Given the description of an element on the screen output the (x, y) to click on. 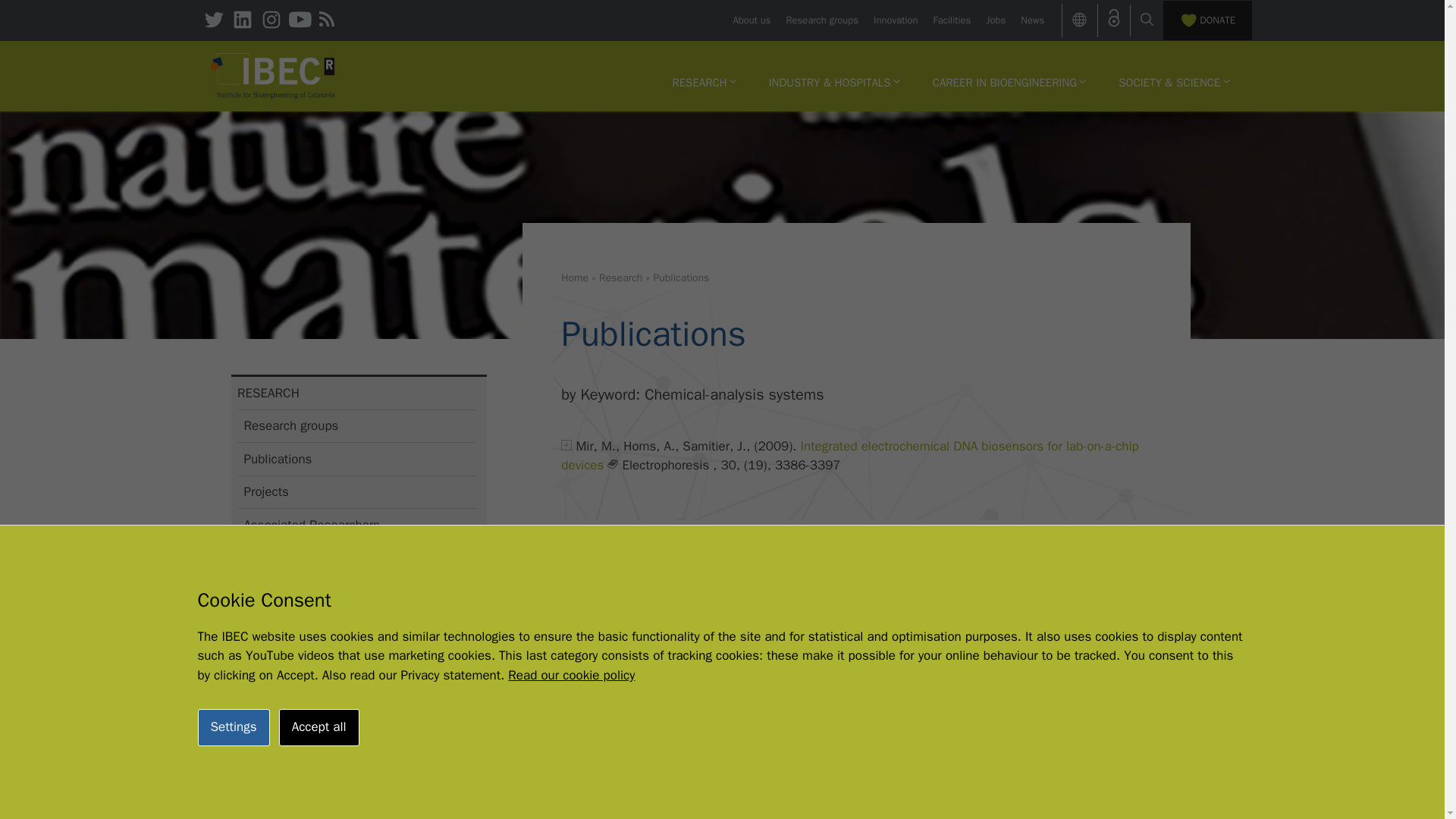
RESEARCH (704, 81)
DONATE (1207, 20)
Facilities (952, 19)
Institute for Bioengineering of Catalonia (272, 75)
Jobs (995, 19)
Innovation (895, 19)
About us (751, 19)
News (1031, 19)
Research groups (822, 19)
Institute for Bioengineering of Catalonia (272, 74)
